Given the description of an element on the screen output the (x, y) to click on. 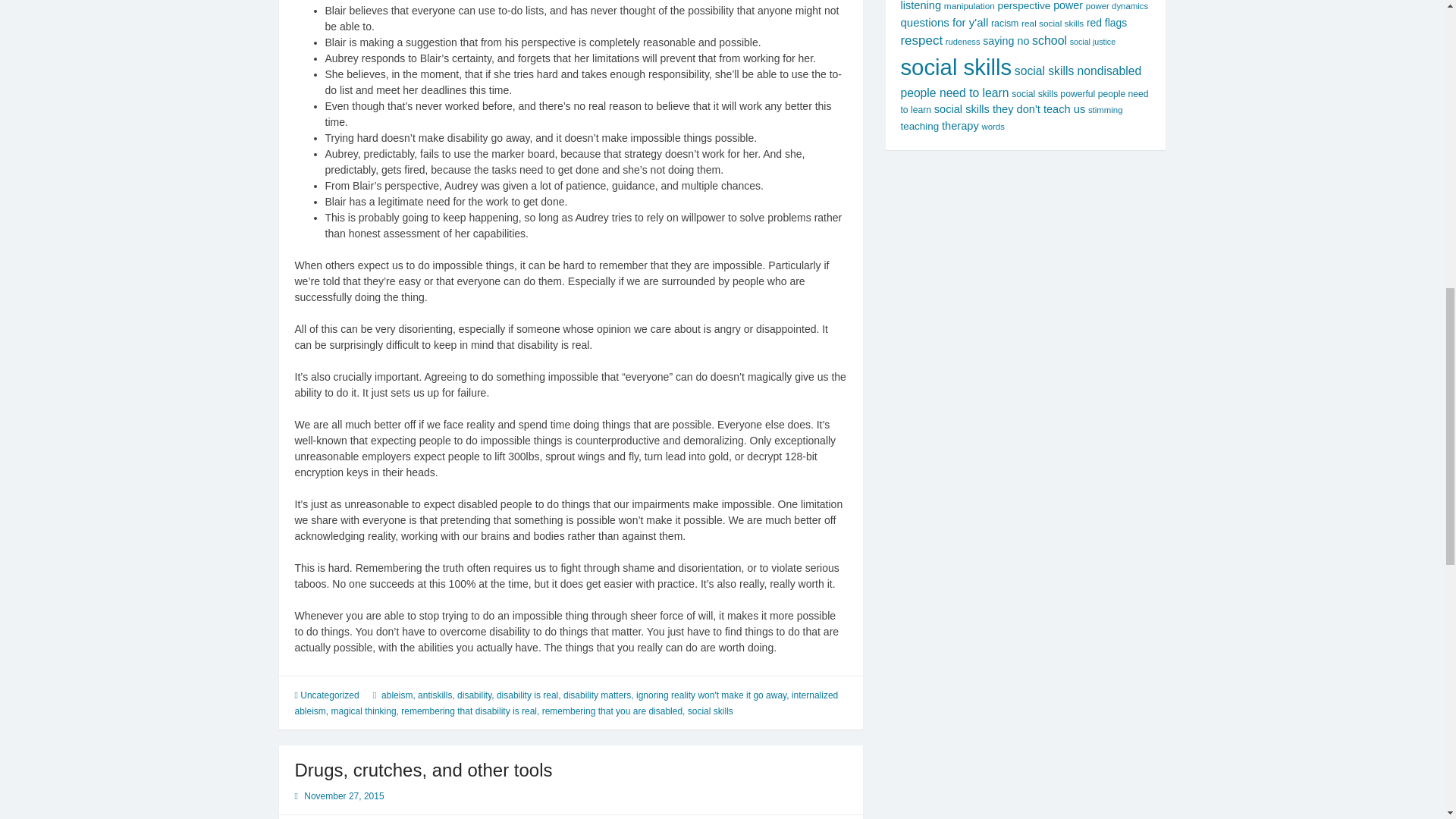
ignoring reality won't make it go away (711, 695)
antiskills (434, 695)
remembering that you are disabled (611, 710)
disability (474, 695)
November 27, 2015 (344, 796)
remembering that disability is real (469, 710)
disability matters (596, 695)
Uncategorized (328, 695)
ableism (396, 695)
Drugs, crutches, and other tools (422, 770)
